Given the description of an element on the screen output the (x, y) to click on. 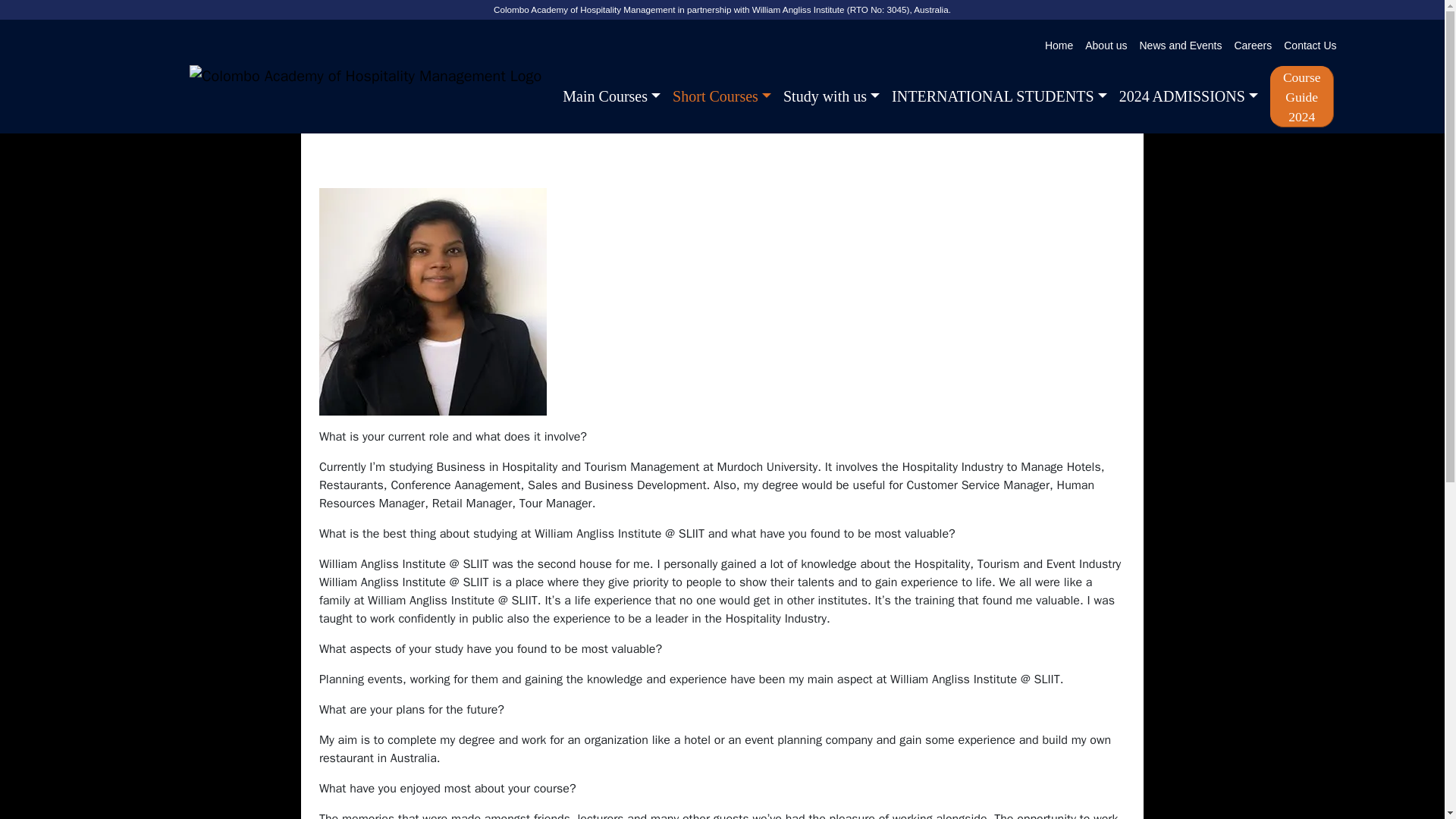
News and Events (1179, 45)
Home (1058, 45)
INTERNATIONAL STUDENTS (998, 95)
Contact Us (1310, 45)
About us (1105, 45)
Careers (1252, 45)
2024 ADMISSIONS (1188, 95)
Main Courses (611, 95)
Study with us (831, 95)
Short Courses (721, 95)
